Given the description of an element on the screen output the (x, y) to click on. 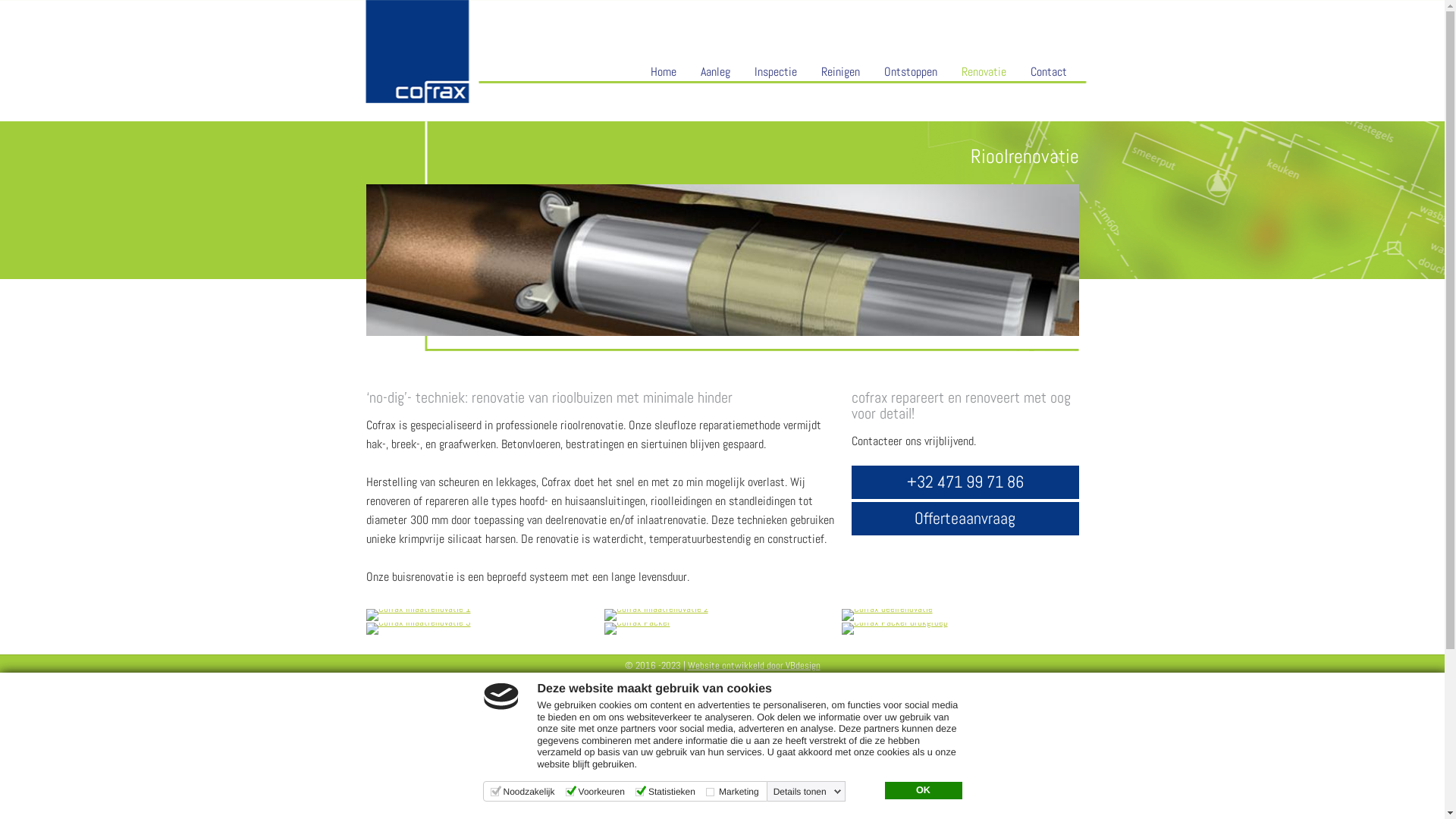
Renovatie Element type: text (983, 71)
Cofrax inlaatrenovatie 1 Element type: hover (417, 614)
Website ontwikkeld door VBdesign Element type: text (753, 664)
Cofrax inlaatrenovatie 3 Element type: hover (417, 628)
Reinigen Element type: text (839, 71)
Offerteaanvraag Element type: text (964, 518)
Contact Element type: text (1047, 71)
Home Element type: text (663, 71)
OK Element type: text (922, 790)
Cofrax deelrenovatie Element type: hover (886, 614)
Aanleg Element type: text (715, 71)
Ontstoppen Element type: text (910, 71)
Cofrax rioleringsaanleg Element type: hover (721, 259)
+32 471 99 71 86 Element type: text (964, 481)
Cofrax inlaatrenovatie 2 Element type: hover (656, 614)
Inspectie Element type: text (774, 71)
Details tonen Element type: text (807, 791)
Cofrax Packer Element type: hover (637, 628)
Cofrax Packer drukgroep Element type: hover (894, 628)
